Given the description of an element on the screen output the (x, y) to click on. 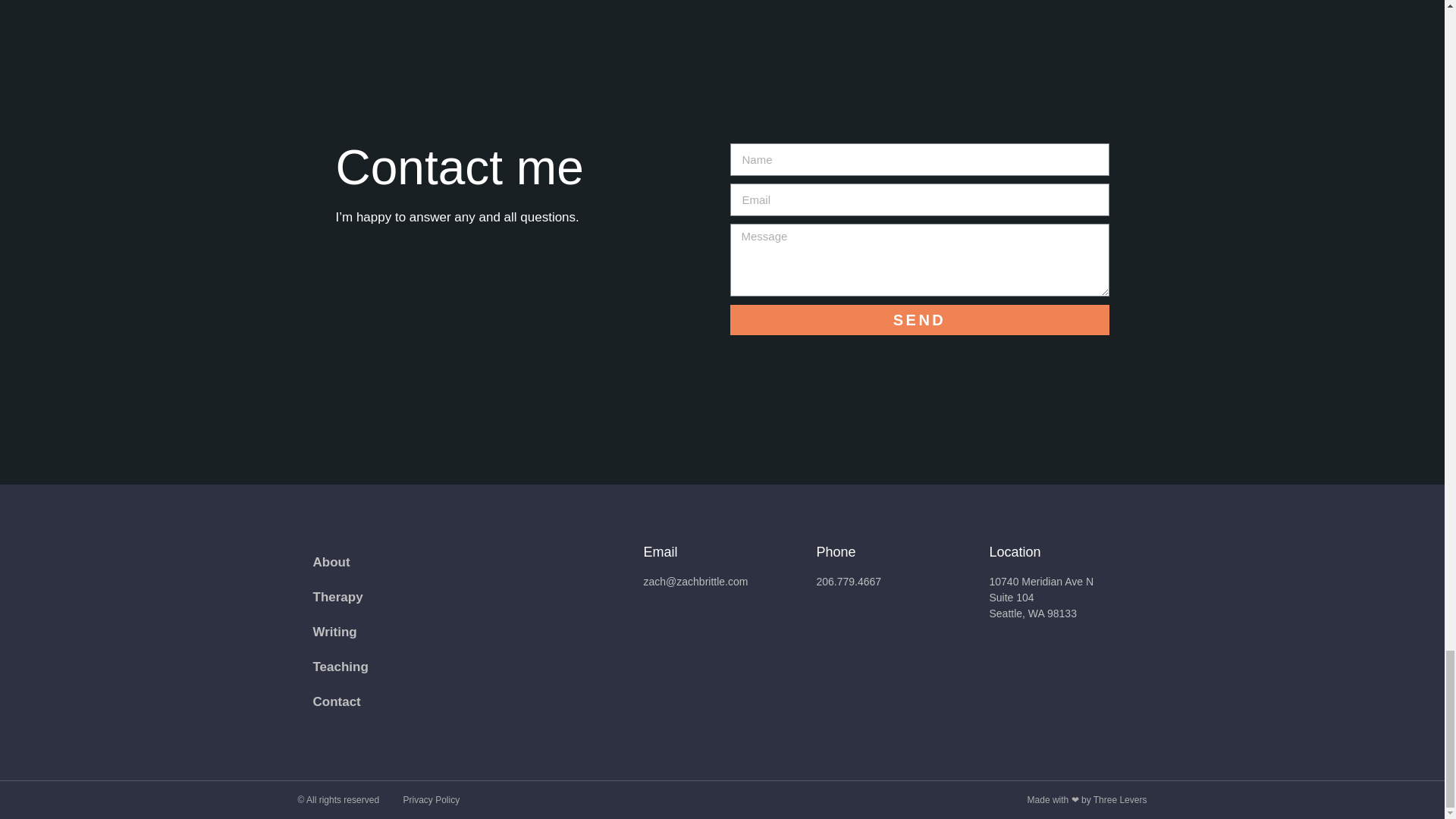
Teaching (339, 667)
Privacy Policy (431, 799)
About (331, 562)
Writing (334, 632)
Contact (336, 701)
SEND (918, 319)
Therapy (337, 597)
